Given the description of an element on the screen output the (x, y) to click on. 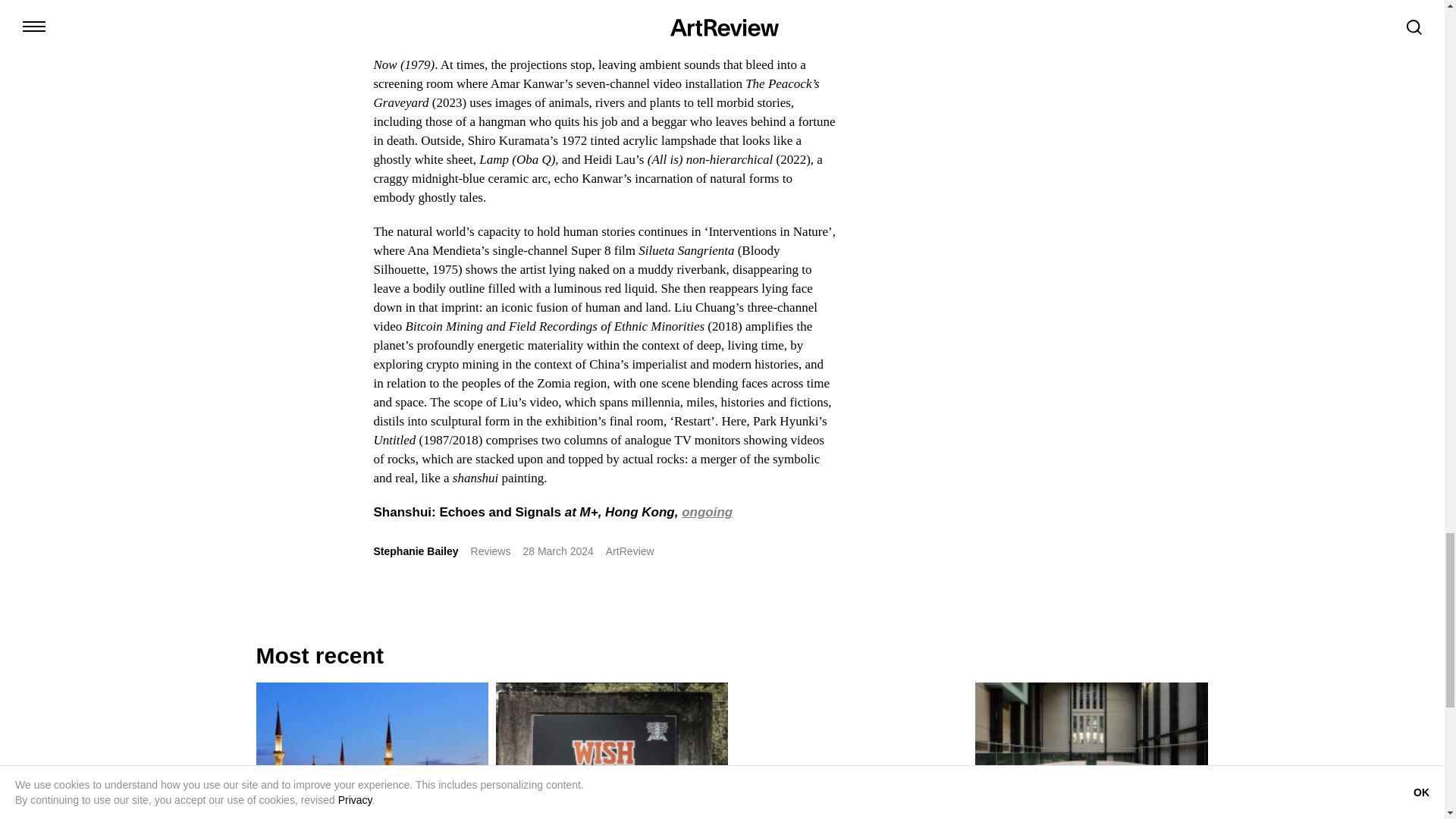
ongoing (706, 512)
Reviews (490, 550)
Stephanie Bailey (415, 551)
